Given the description of an element on the screen output the (x, y) to click on. 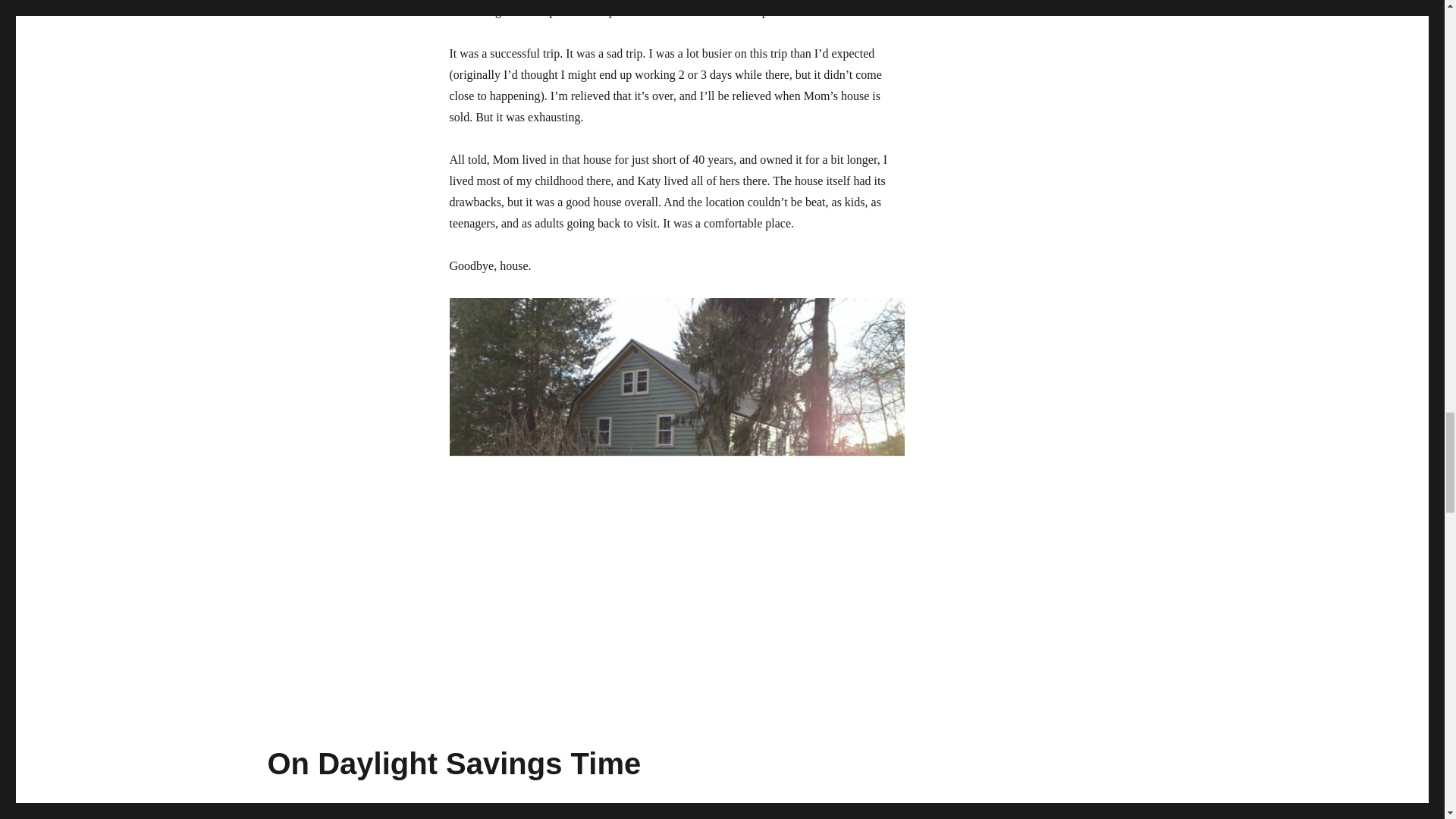
12 March 2013 (299, 818)
On Daylight Savings Time (453, 763)
